Given the description of an element on the screen output the (x, y) to click on. 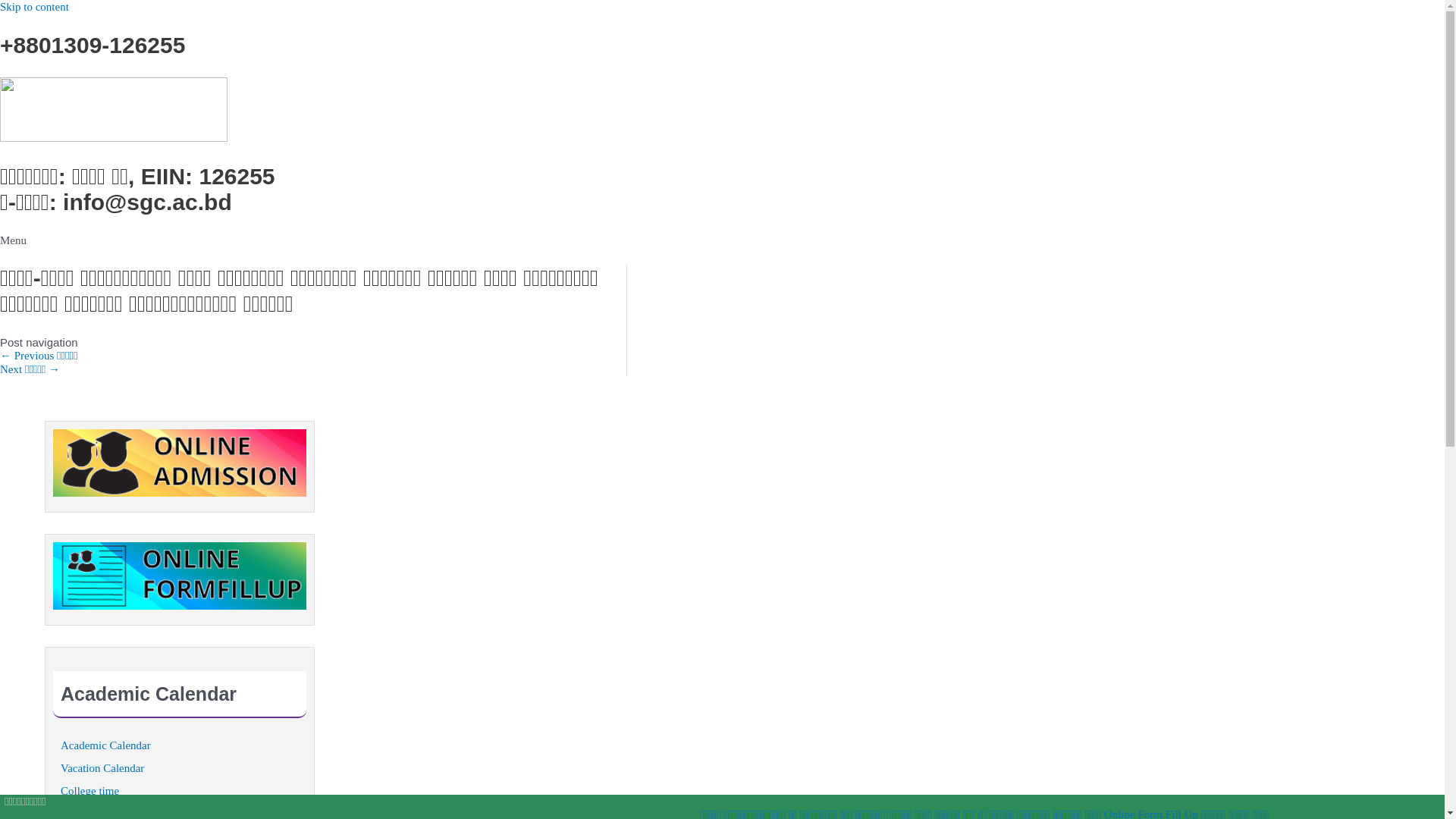
Vacation Calendar Element type: text (102, 767)
# Element type: hover (179, 575)
Academic Calendar Element type: text (105, 745)
College time Element type: text (89, 790)
Skip to content Element type: text (34, 6)
